Given the description of an element on the screen output the (x, y) to click on. 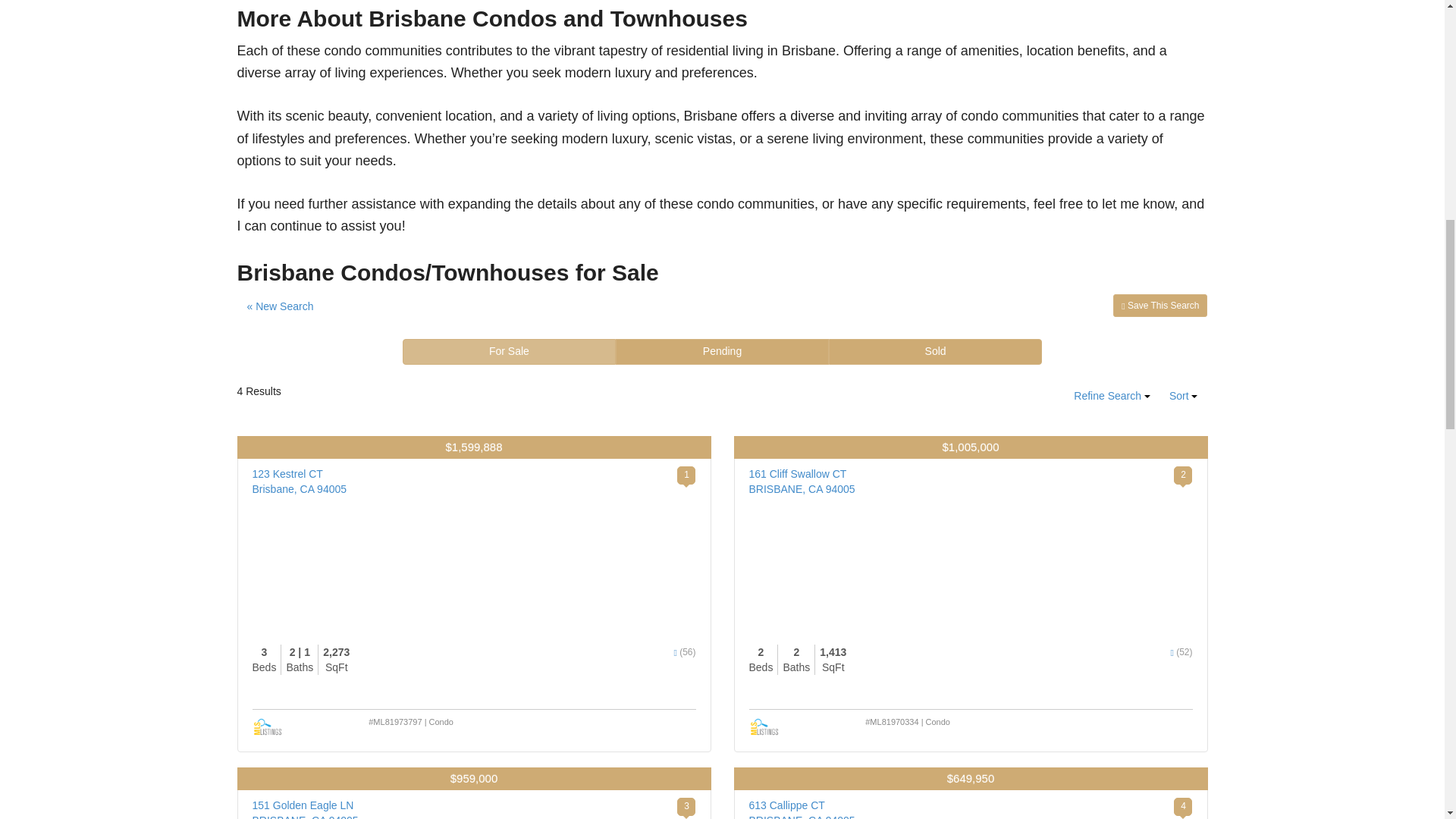
Save This Search (1160, 305)
For Sale (509, 351)
Pending (721, 351)
Sort (1183, 396)
Sold (935, 351)
Refine Search (1112, 396)
